Given the description of an element on the screen output the (x, y) to click on. 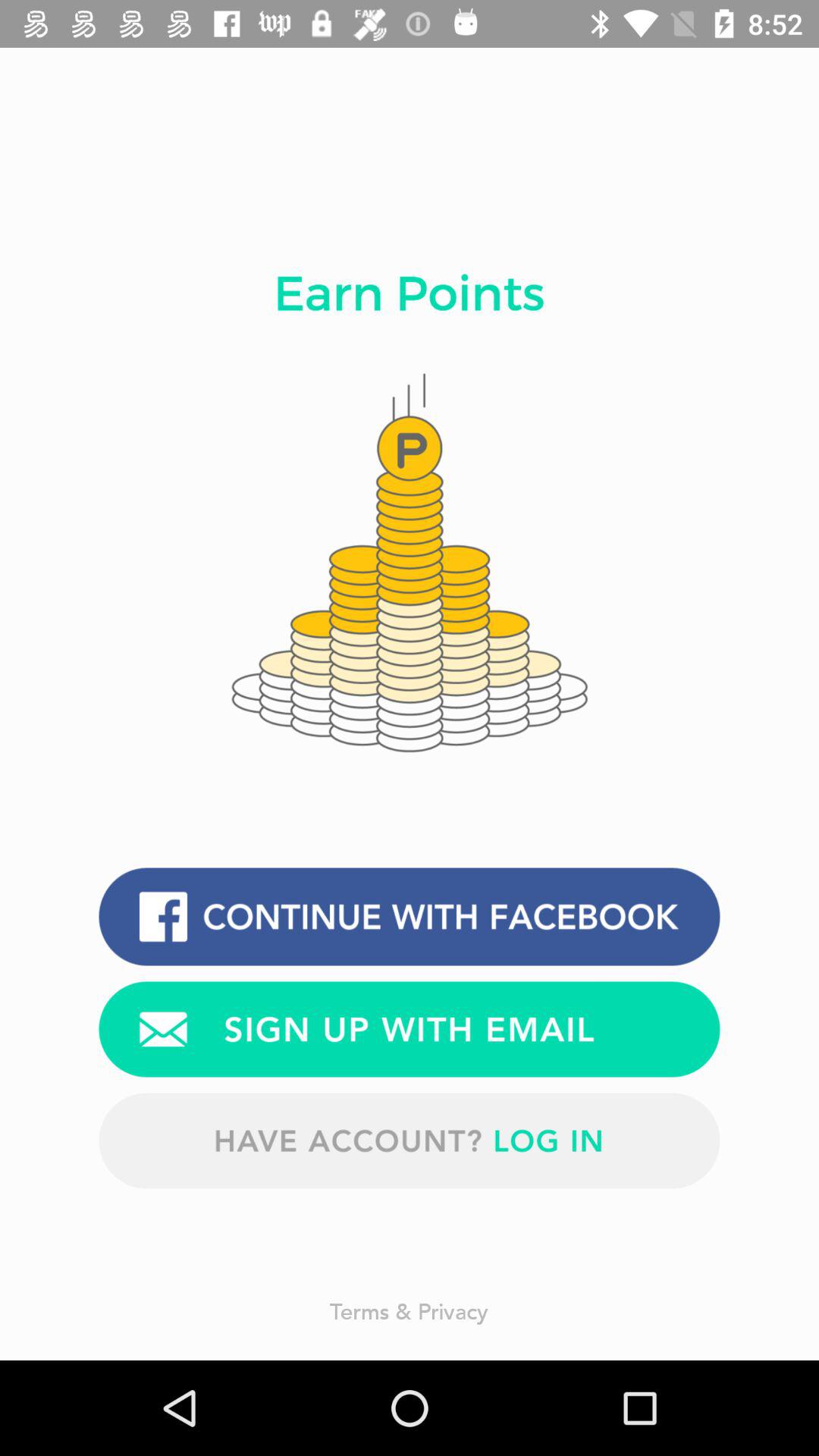
log into account (409, 1140)
